Given the description of an element on the screen output the (x, y) to click on. 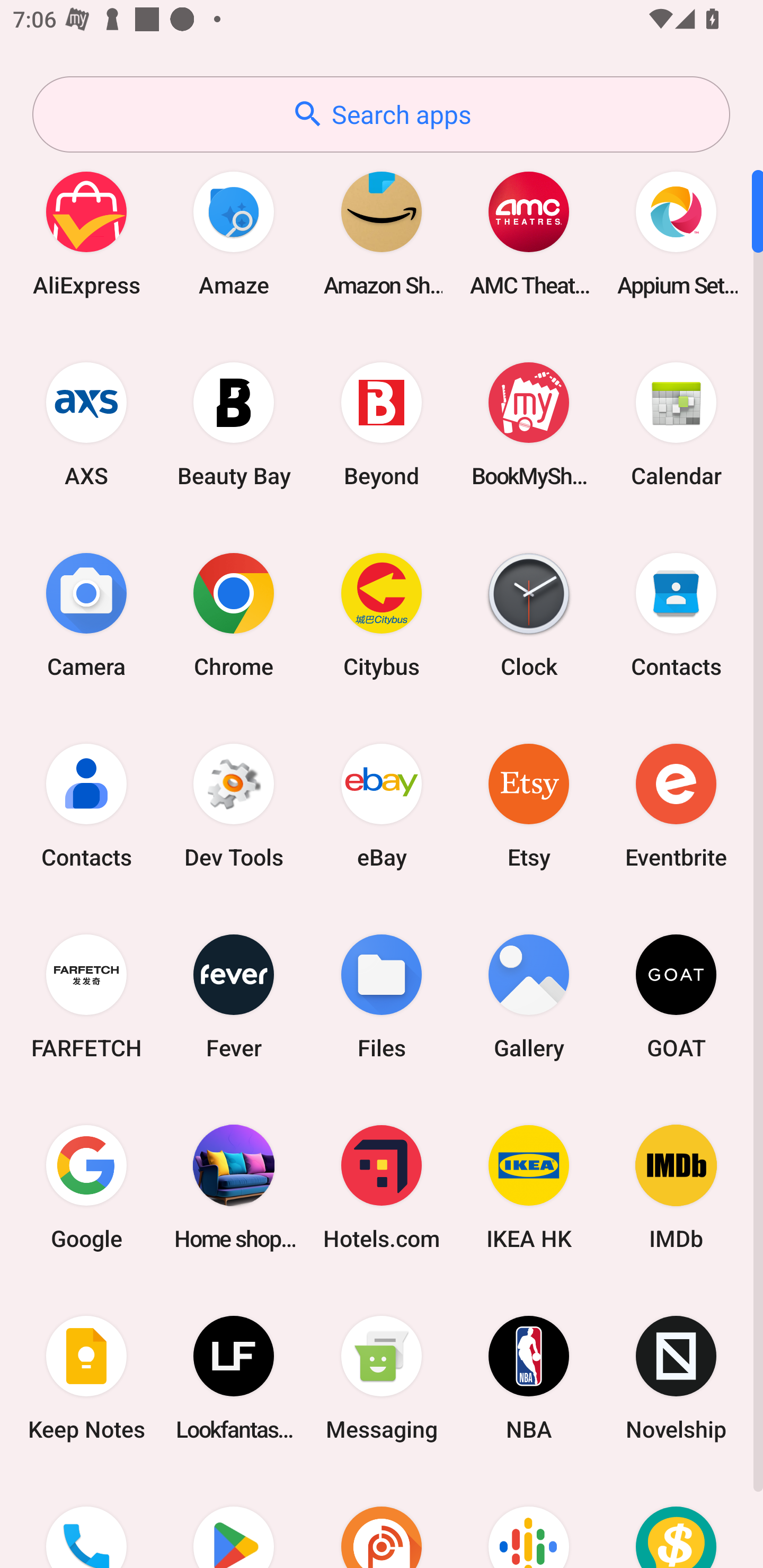
  Search apps (381, 114)
AliExpress (86, 233)
Amaze (233, 233)
Amazon Shopping (381, 233)
AMC Theatres (528, 233)
Appium Settings (676, 233)
AXS (86, 424)
Beauty Bay (233, 424)
Beyond (381, 424)
BookMyShow (528, 424)
Calendar (676, 424)
Camera (86, 614)
Chrome (233, 614)
Citybus (381, 614)
Clock (528, 614)
Contacts (676, 614)
Contacts (86, 805)
Dev Tools (233, 805)
eBay (381, 805)
Etsy (528, 805)
Eventbrite (676, 805)
FARFETCH (86, 996)
Fever (233, 996)
Files (381, 996)
Gallery (528, 996)
GOAT (676, 996)
Google (86, 1186)
Home shopping (233, 1186)
Hotels.com (381, 1186)
IKEA HK (528, 1186)
IMDb (676, 1186)
Keep Notes (86, 1377)
Lookfantastic (233, 1377)
Messaging (381, 1377)
NBA (528, 1377)
Novelship (676, 1377)
Phone (86, 1520)
Play Store (233, 1520)
Podcast Addict (381, 1520)
Podcasts (528, 1520)
Price (676, 1520)
